Given the description of an element on the screen output the (x, y) to click on. 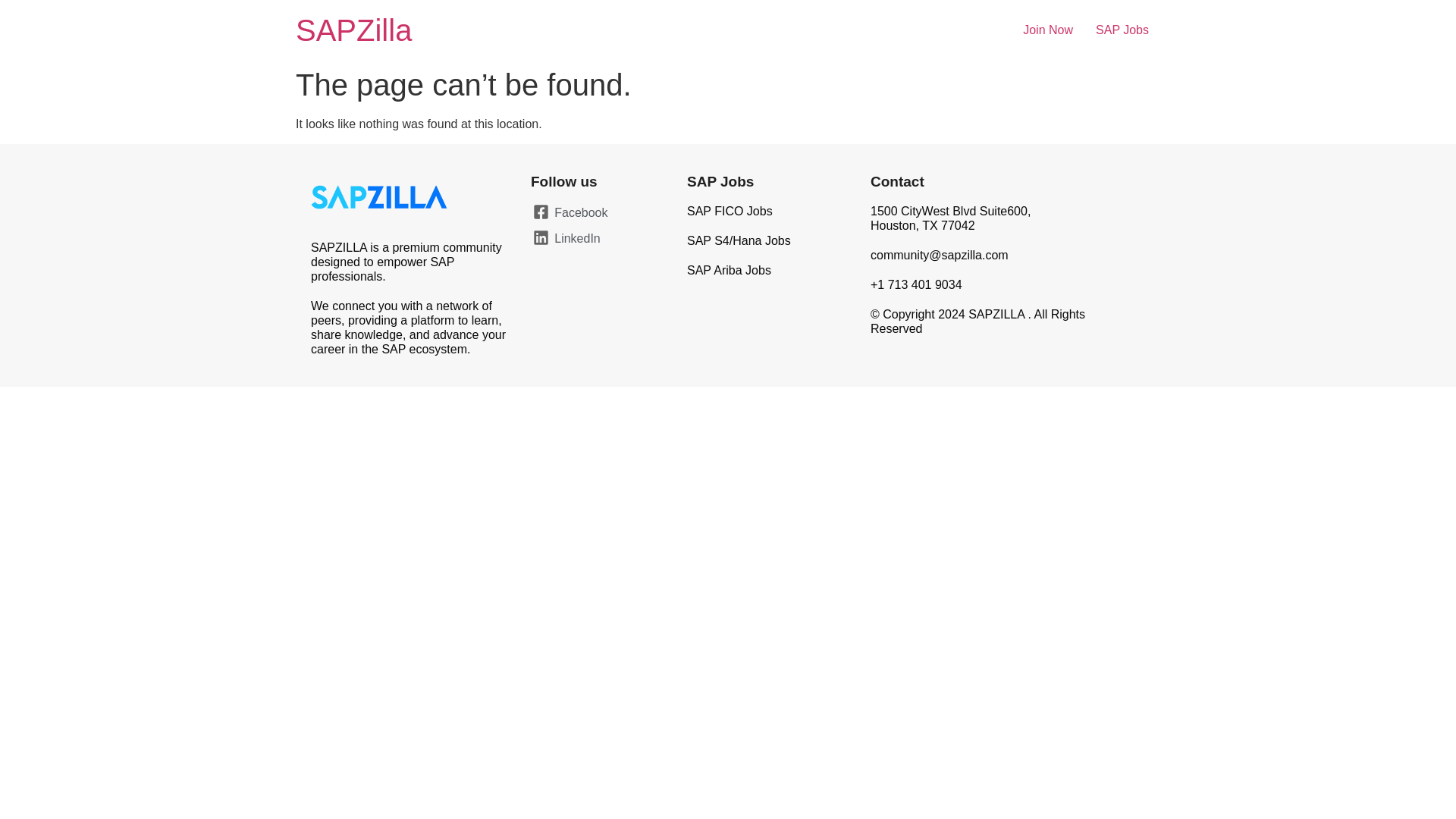
SAP FICO Jobs (730, 210)
SAP Jobs (720, 181)
SAP Ariba Jobs (729, 269)
Facebook (593, 212)
Join Now (1047, 30)
SAPZilla (353, 29)
Home (353, 29)
SAP Jobs (1122, 30)
LinkedIn (593, 239)
